Given the description of an element on the screen output the (x, y) to click on. 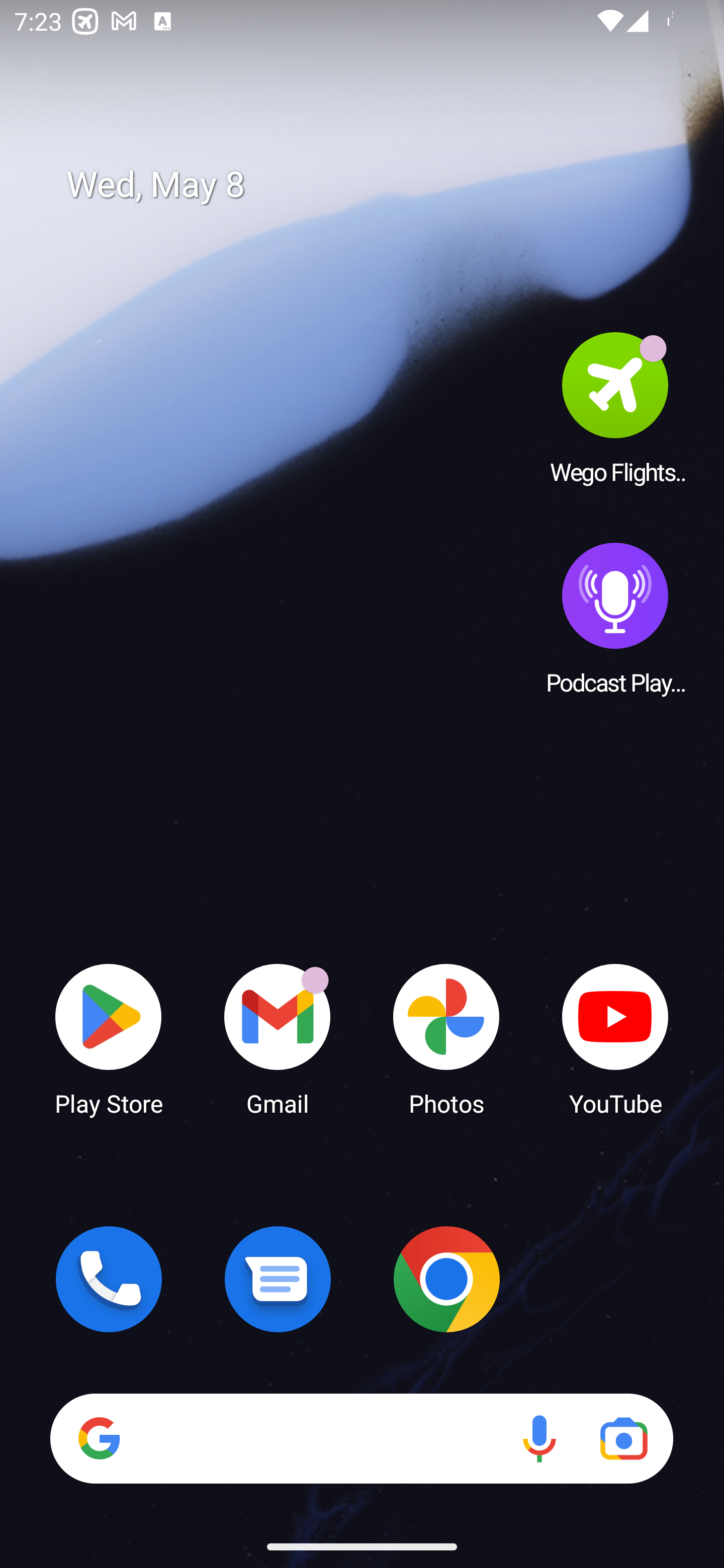
Wed, May 8 (375, 184)
Podcast Player (615, 617)
Play Store (108, 1038)
Gmail Gmail has 19 notifications (277, 1038)
Photos (445, 1038)
YouTube (615, 1038)
Phone (108, 1279)
Messages (277, 1279)
Chrome (446, 1279)
Voice search (539, 1438)
Google Lens (623, 1438)
